Given the description of an element on the screen output the (x, y) to click on. 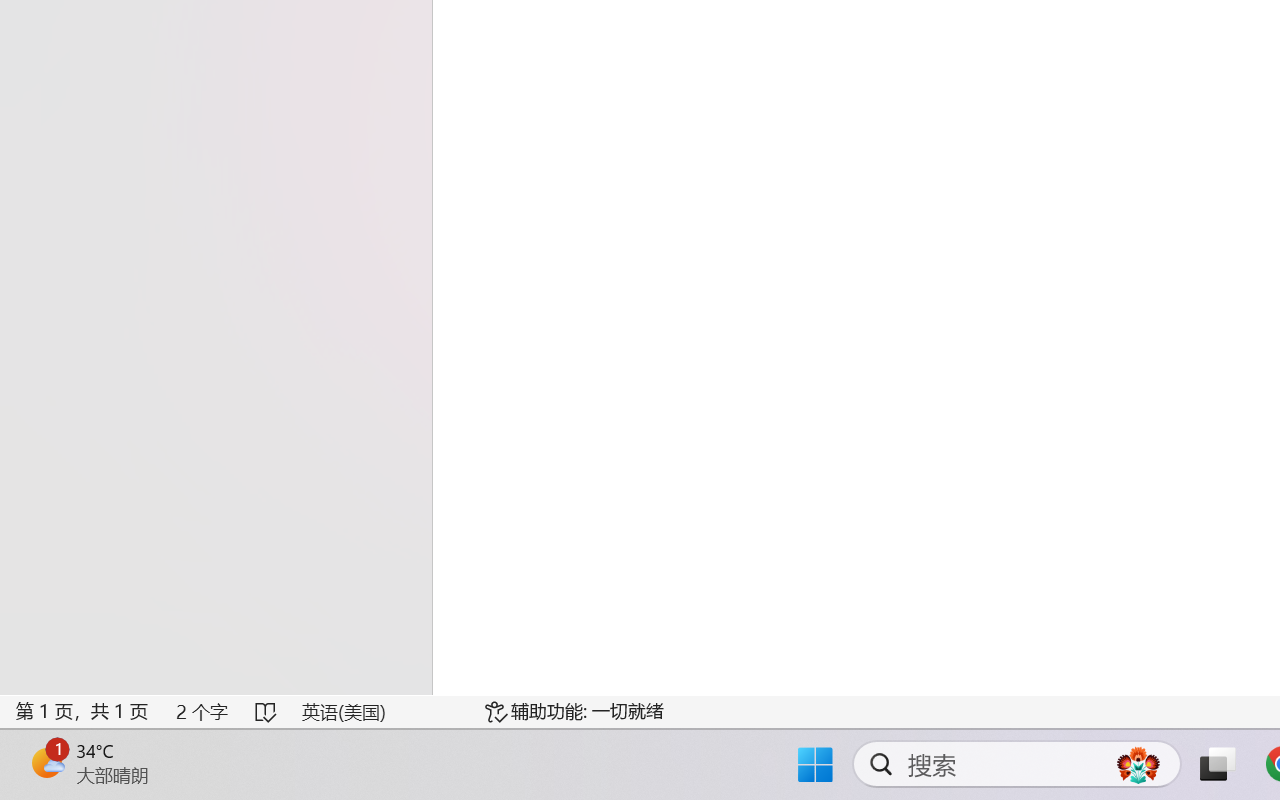
AutomationID: DynamicSearchBoxGleamImage (1138, 764)
AutomationID: BadgeAnchorLargeTicker (46, 762)
